Given the description of an element on the screen output the (x, y) to click on. 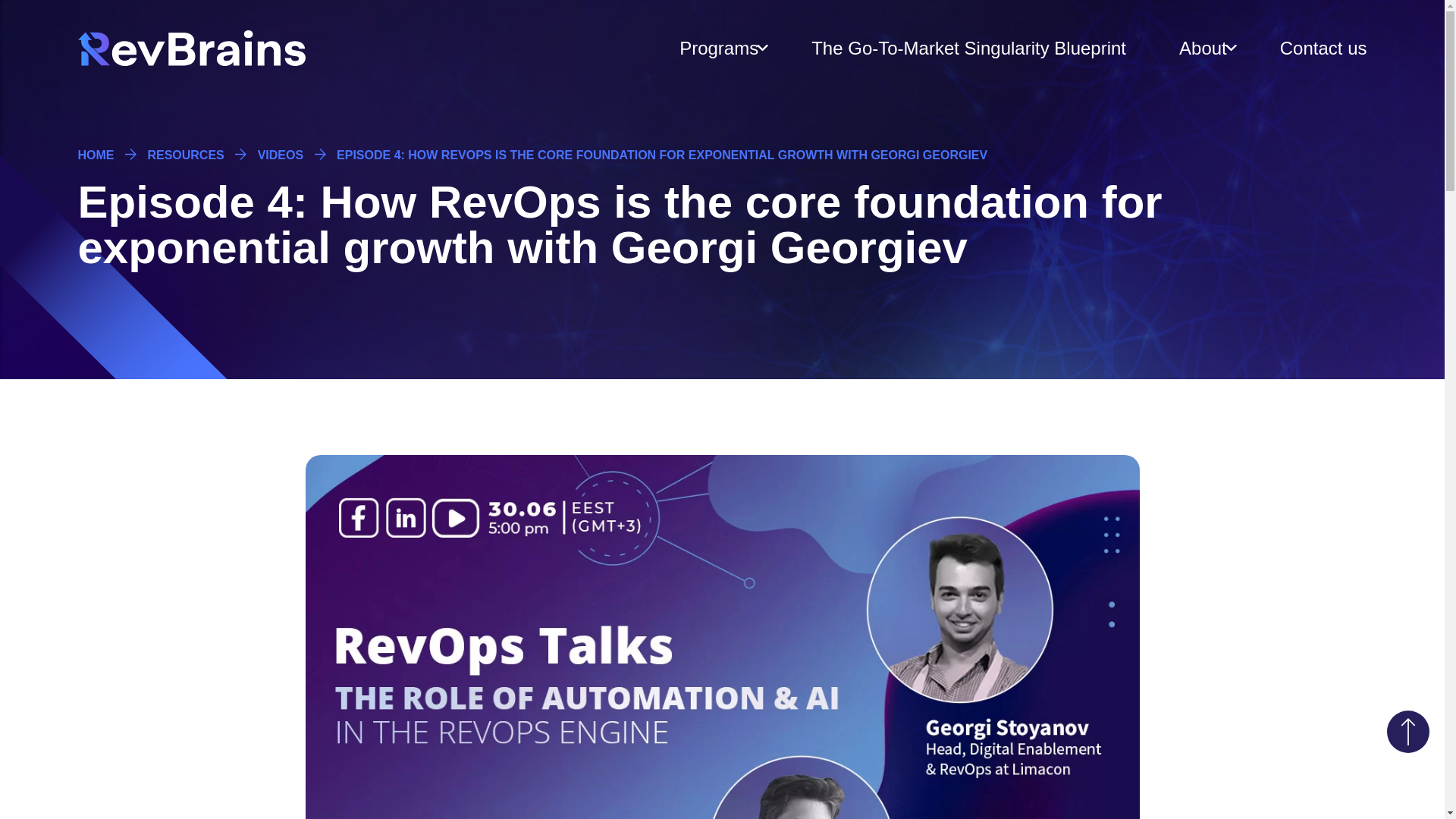
HOME (95, 154)
RESOURCES (185, 154)
Contact us (1323, 48)
Programs (718, 48)
About (1203, 48)
The Go-To-Market Singularity Blueprint (967, 48)
VIDEOS (279, 154)
